Given the description of an element on the screen output the (x, y) to click on. 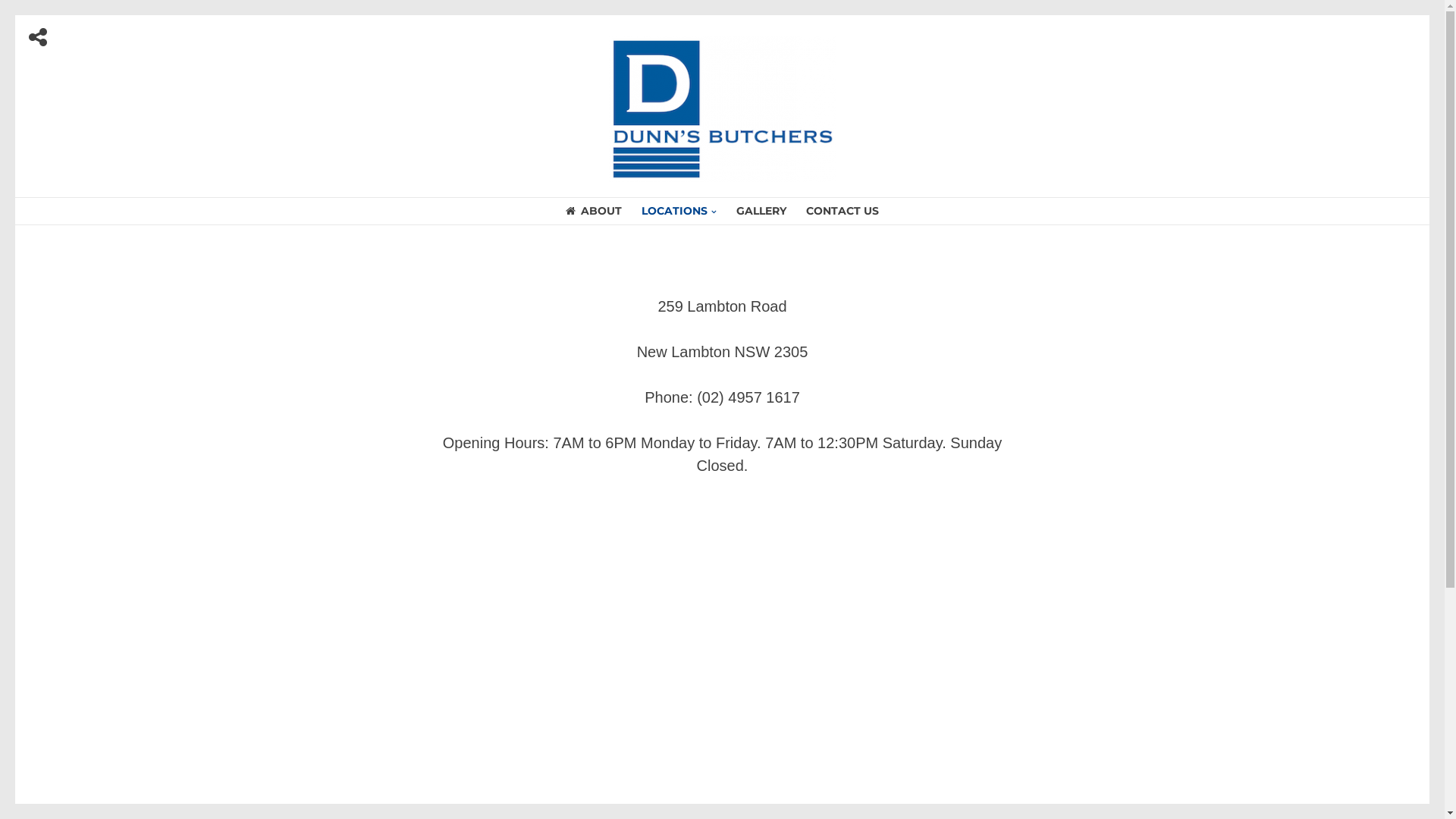
ABOUT Element type: text (593, 210)
LOCATIONS Element type: text (678, 210)
Skip to content Element type: text (15, 15)
CONTACT US Element type: text (842, 210)
GALLERY Element type: text (761, 210)
